Given the description of an element on the screen output the (x, y) to click on. 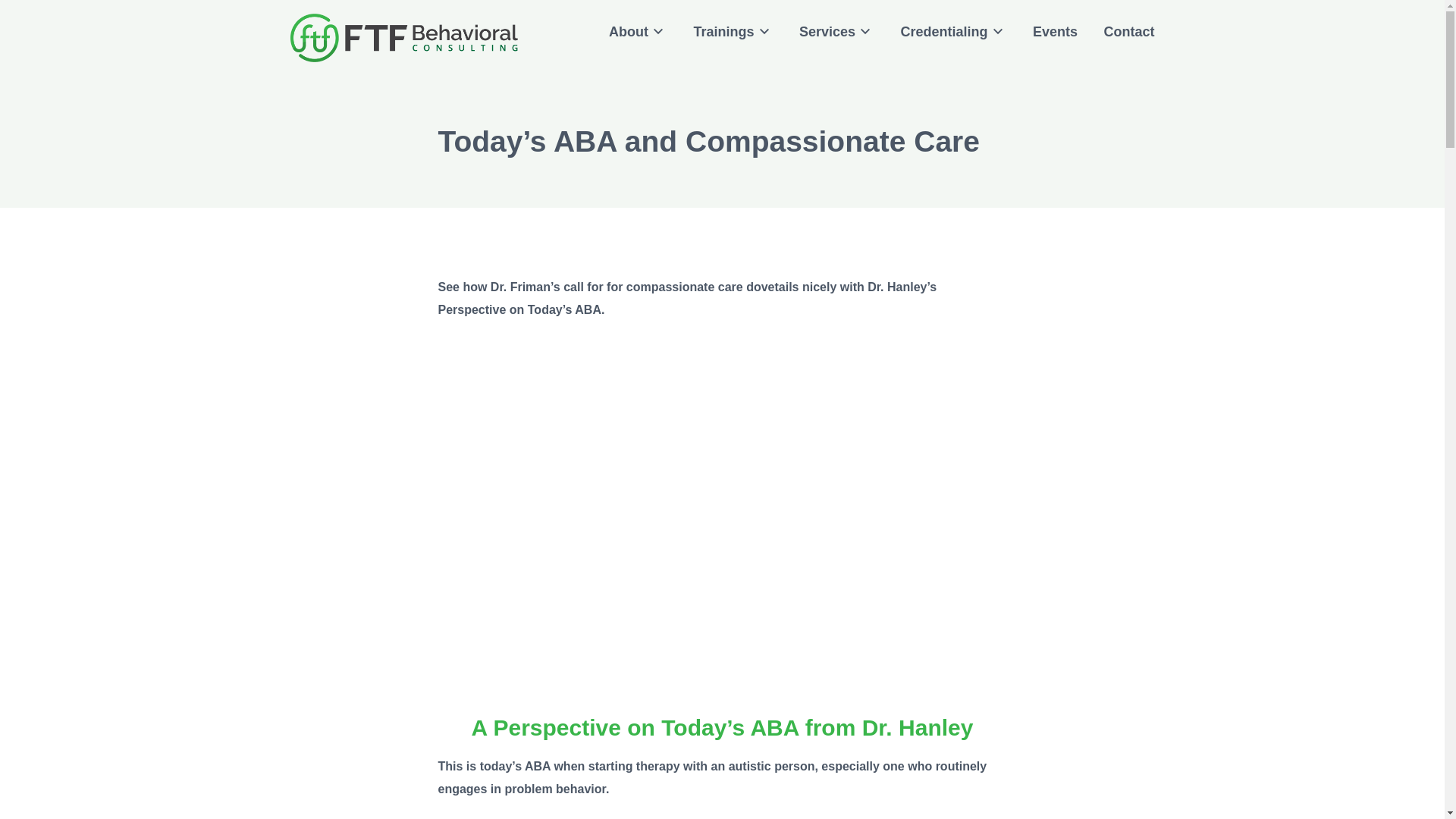
Trainings (733, 31)
Events (1054, 31)
Services (837, 31)
Contact (1128, 31)
About (637, 31)
Credentialing (954, 31)
